Given the description of an element on the screen output the (x, y) to click on. 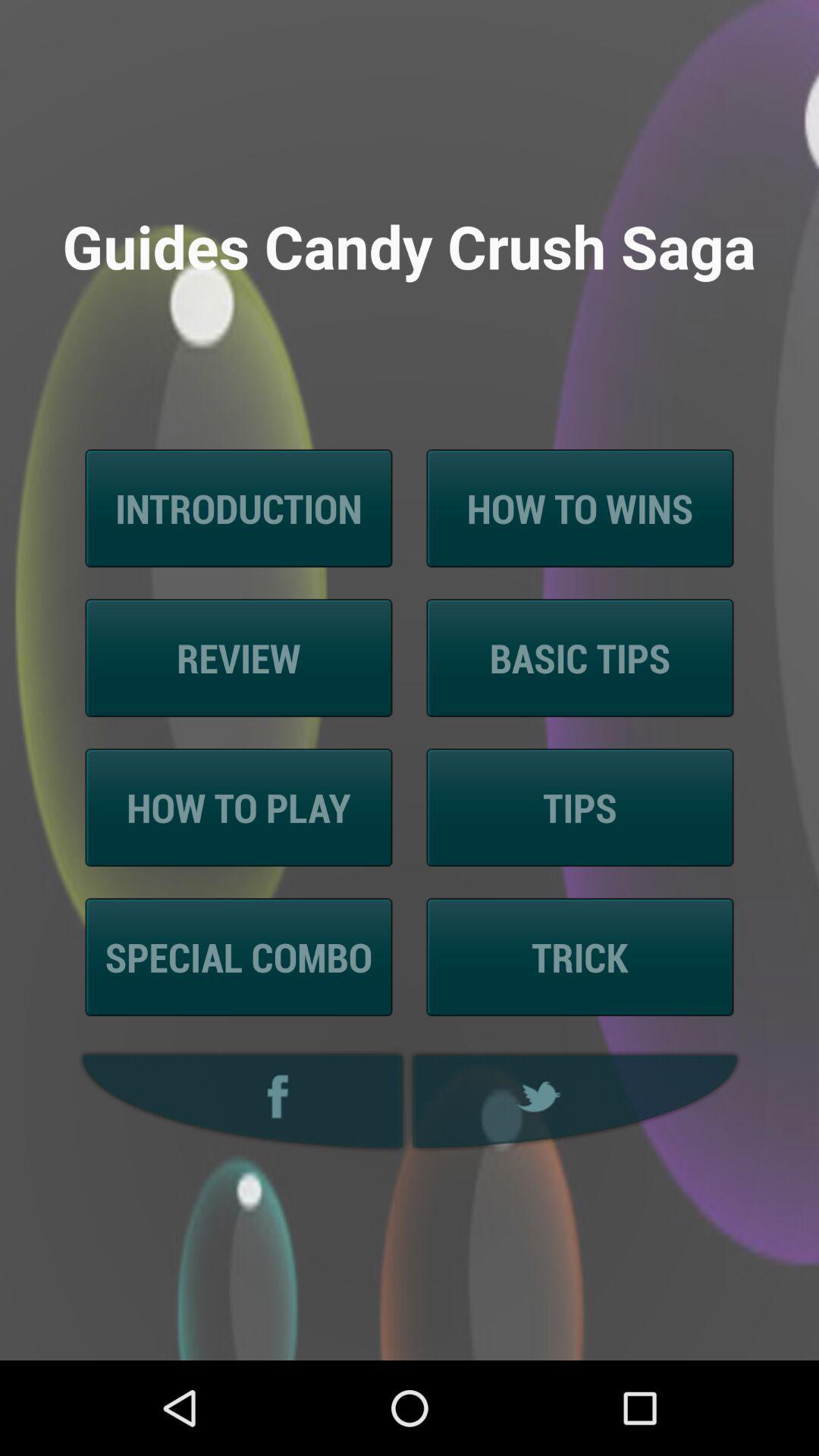
launch icon below the how to play icon (238, 957)
